Given the description of an element on the screen output the (x, y) to click on. 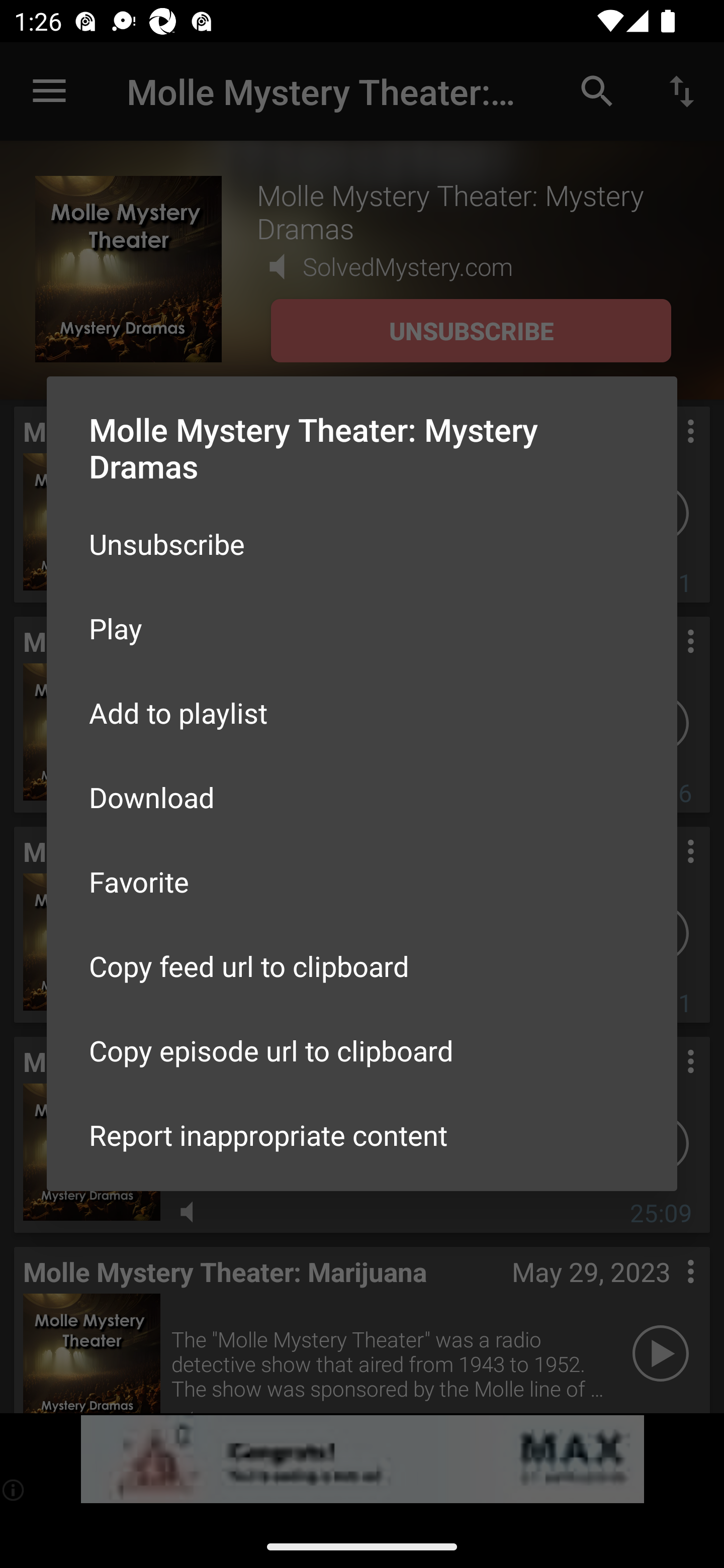
Unsubscribe (361, 543)
Play (361, 628)
Add to playlist (361, 712)
Download (361, 796)
Favorite (361, 880)
Copy feed url to clipboard (361, 965)
Copy episode url to clipboard (361, 1050)
Report inappropriate content (361, 1134)
